Given the description of an element on the screen output the (x, y) to click on. 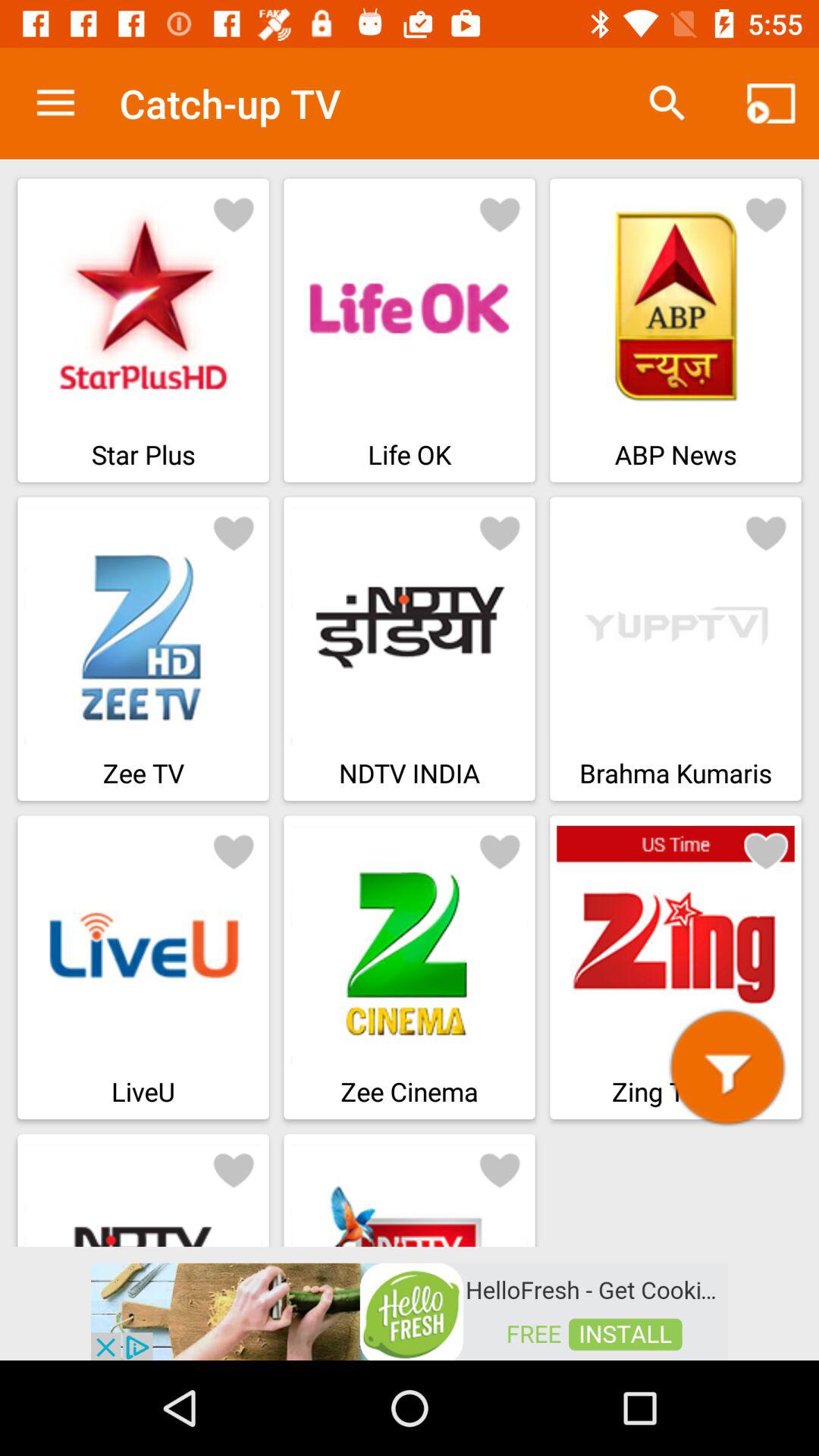
favorite heart button for liveu (233, 850)
